Given the description of an element on the screen output the (x, y) to click on. 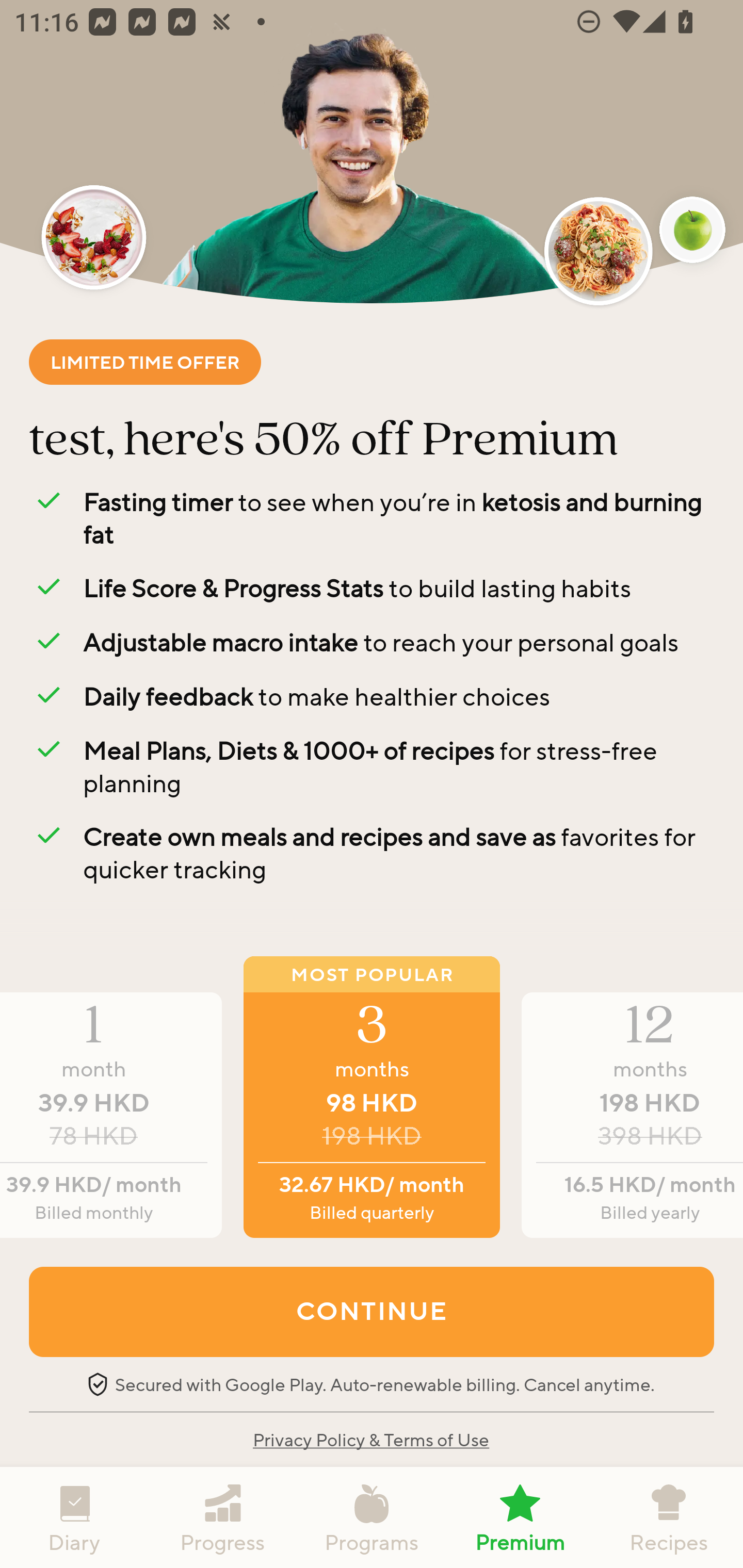
CONTINUE (371, 1311)
Privacy Policy & Terms of Use (370, 1438)
Diary (74, 1517)
Progress (222, 1517)
Programs (371, 1517)
Recipes (668, 1517)
